Given the description of an element on the screen output the (x, y) to click on. 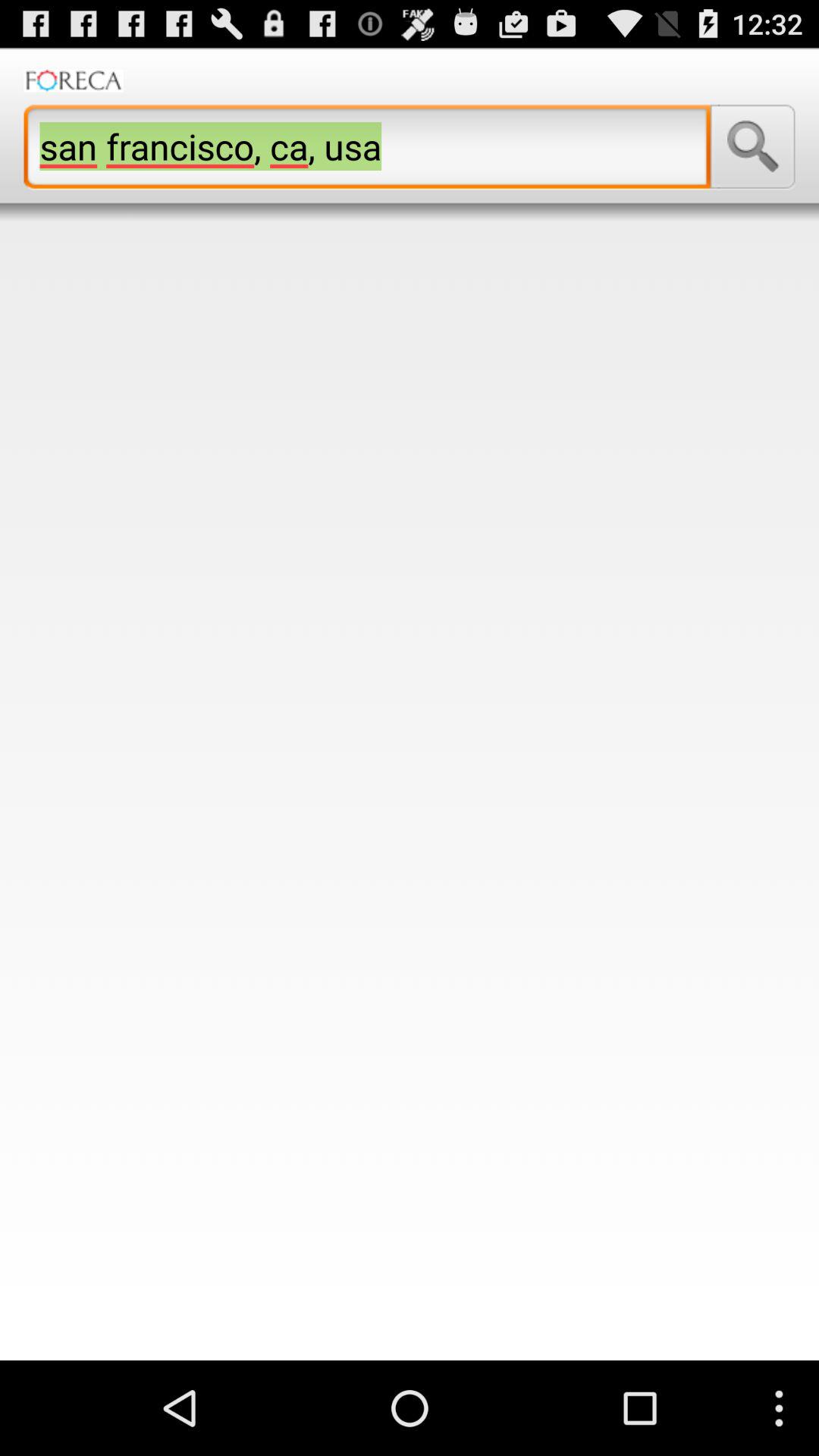
search option (752, 146)
